Given the description of an element on the screen output the (x, y) to click on. 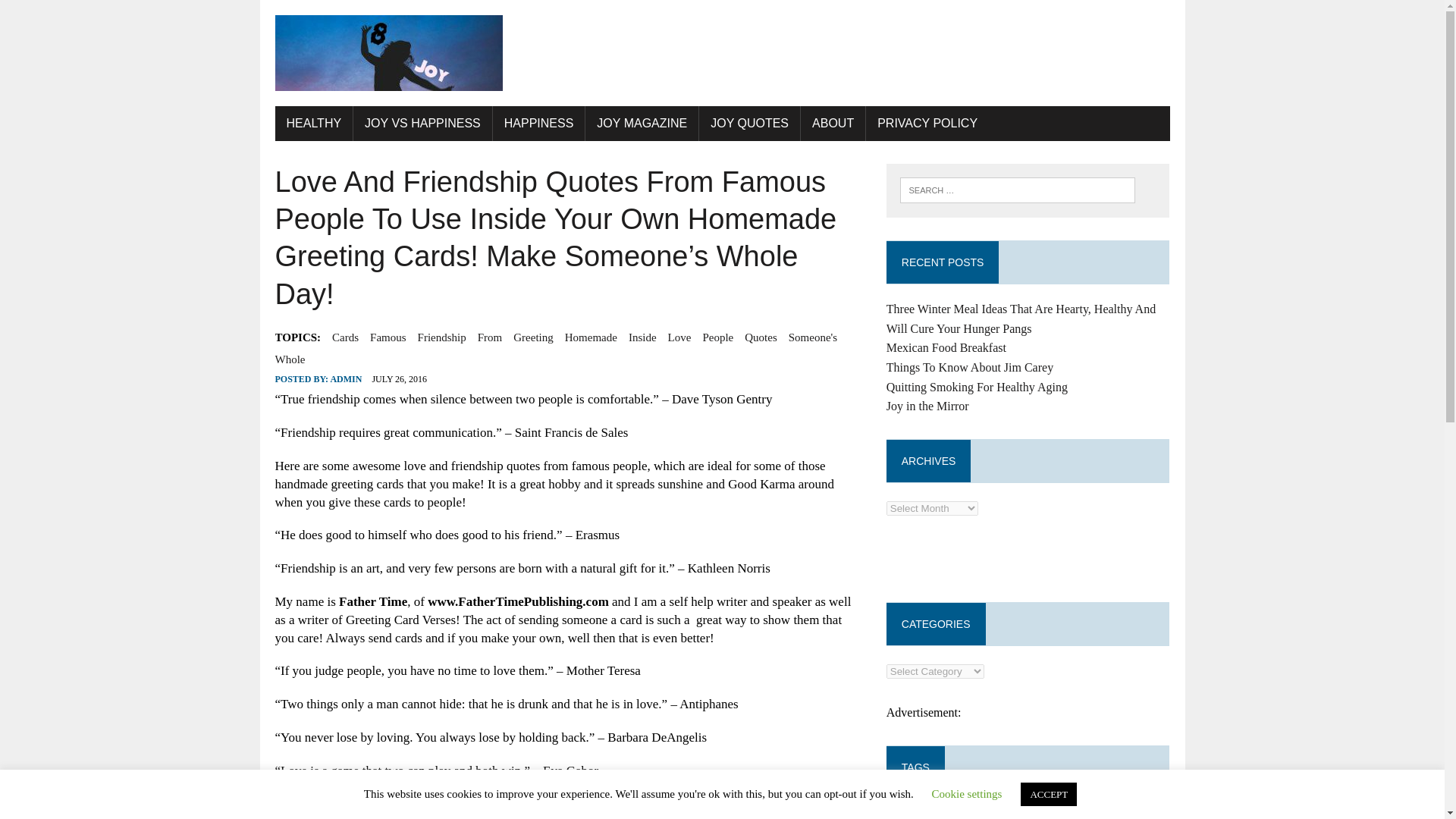
HAPPINESS (539, 123)
Homemade (590, 337)
Joy in the Mirror (927, 405)
about (903, 814)
JOY VS HAPPINESS (422, 123)
Inside (642, 337)
JOY MAGAZINE (641, 123)
Quotes (760, 337)
Whole (289, 359)
